Given the description of an element on the screen output the (x, y) to click on. 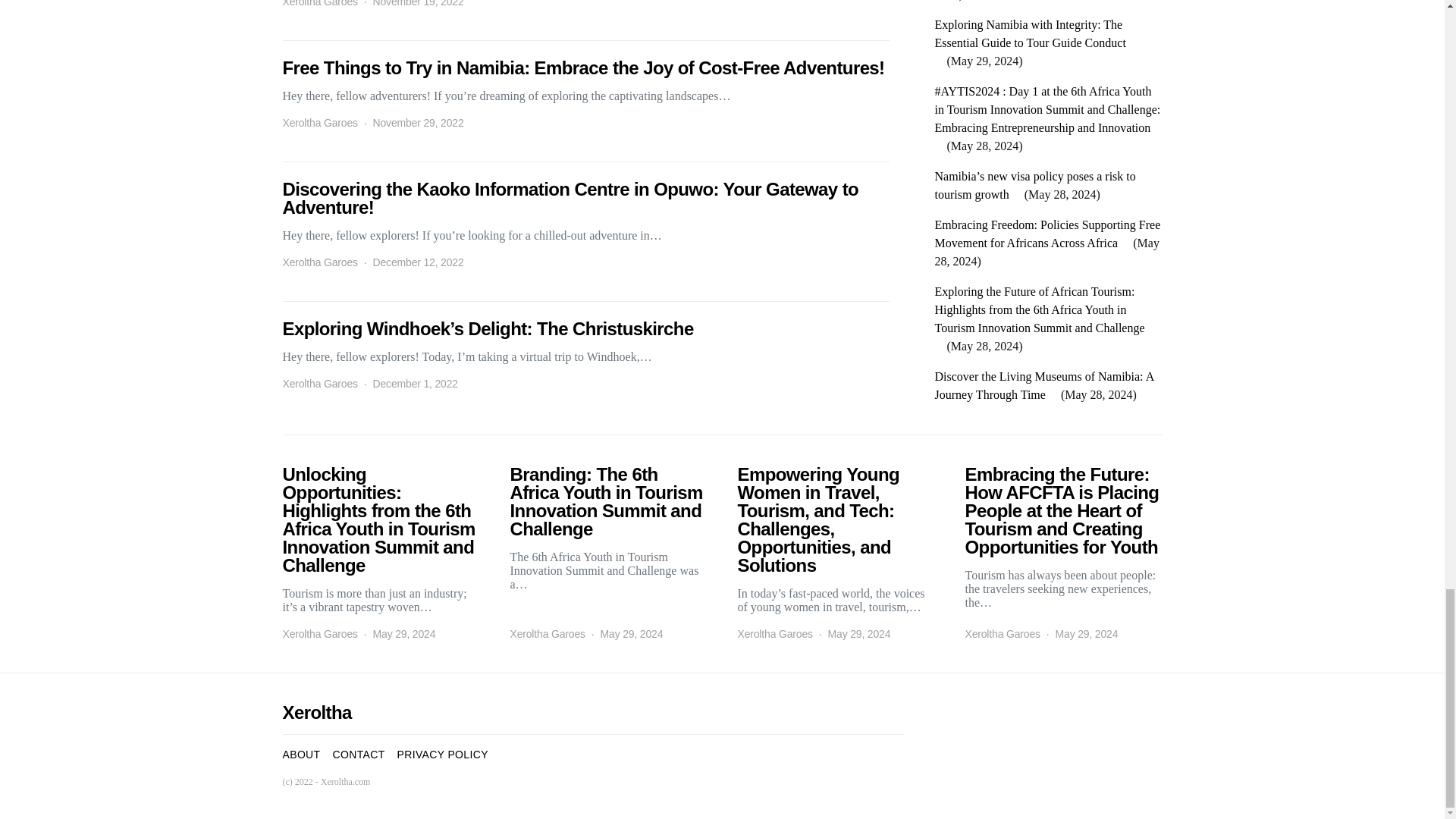
View all posts by Xeroltha Garoes (319, 383)
Xeroltha Garoes (319, 123)
View all posts by Xeroltha Garoes (319, 4)
View all posts by Xeroltha Garoes (319, 123)
View all posts by Xeroltha Garoes (319, 634)
View all posts by Xeroltha Garoes (774, 634)
View all posts by Xeroltha Garoes (319, 262)
Xeroltha Garoes (319, 262)
Xeroltha Garoes (319, 383)
Xeroltha Garoes (319, 4)
View all posts by Xeroltha Garoes (1001, 634)
View all posts by Xeroltha Garoes (547, 634)
